Given the description of an element on the screen output the (x, y) to click on. 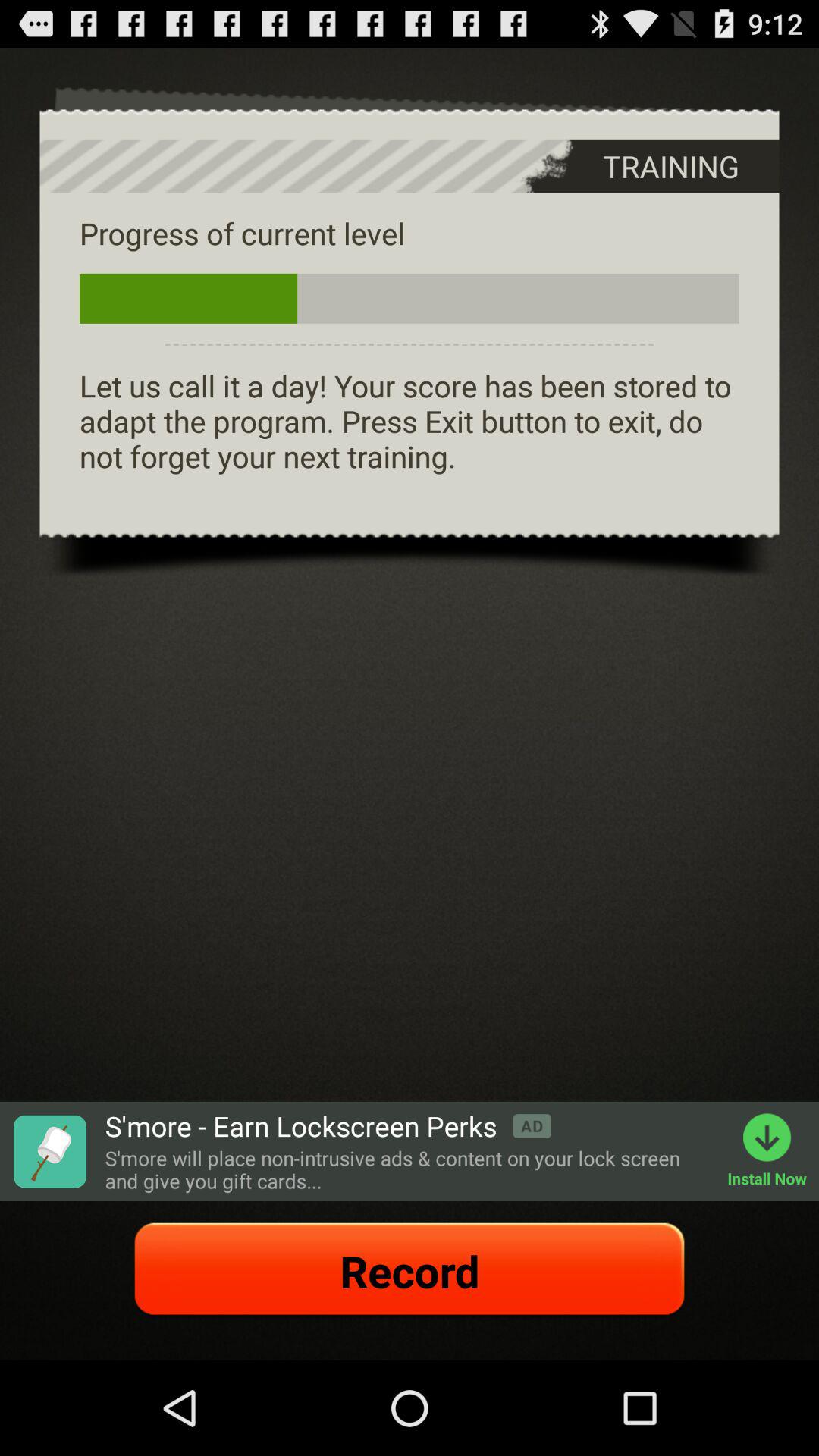
advertisement (49, 1150)
